Given the description of an element on the screen output the (x, y) to click on. 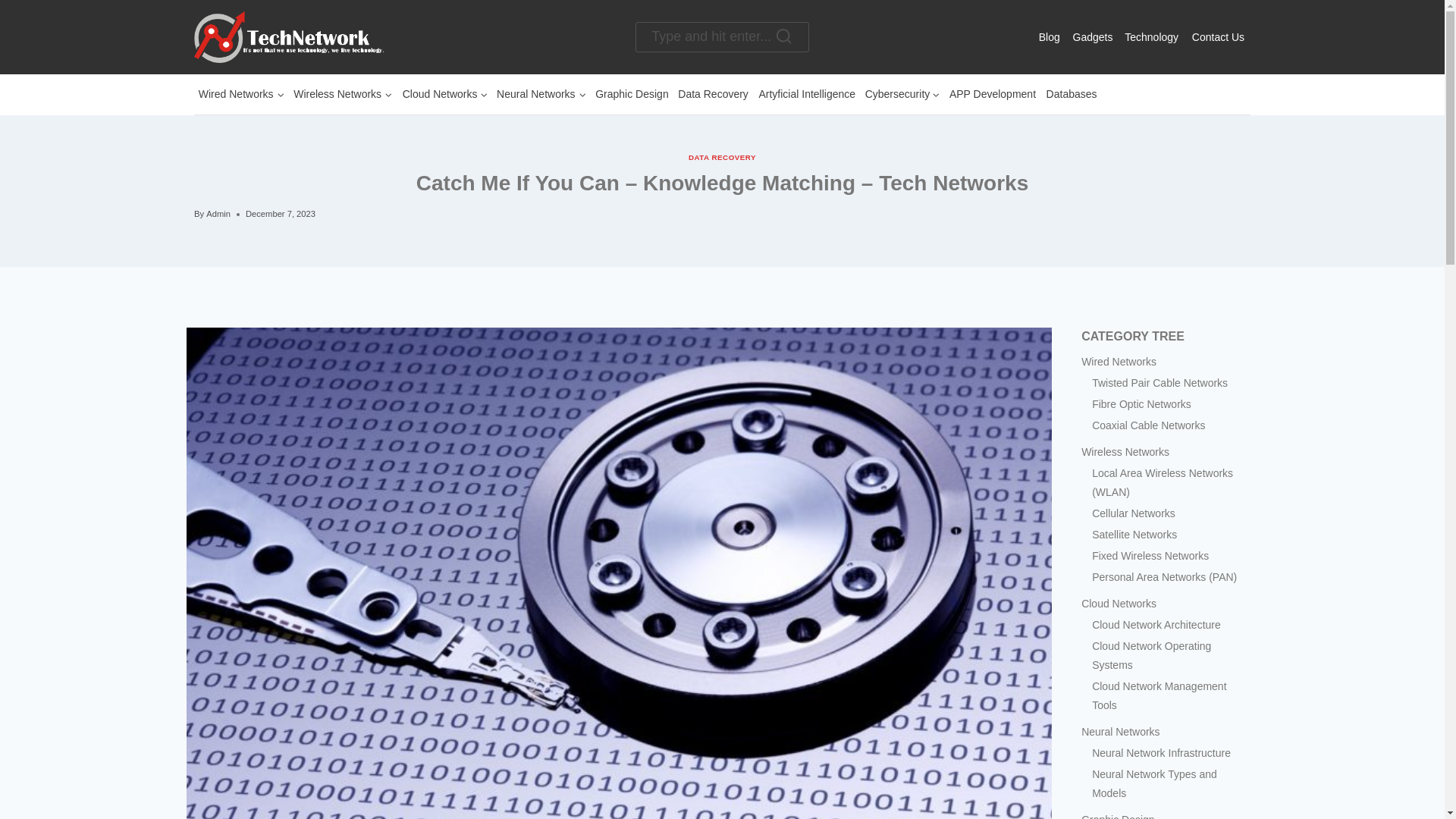
Graphic Design (631, 94)
APP Development (992, 94)
Blog (1048, 36)
Wireless Networks (342, 94)
Databases (1071, 94)
Artyficial Intelligence (807, 94)
Data Recovery (712, 94)
Cybersecurity (902, 94)
Contact Us (1217, 36)
Type and hit enter... (721, 37)
DATA RECOVERY (721, 157)
Gadgets (1092, 36)
Cloud Networks (444, 94)
Wired Networks (240, 94)
Admin (218, 213)
